Given the description of an element on the screen output the (x, y) to click on. 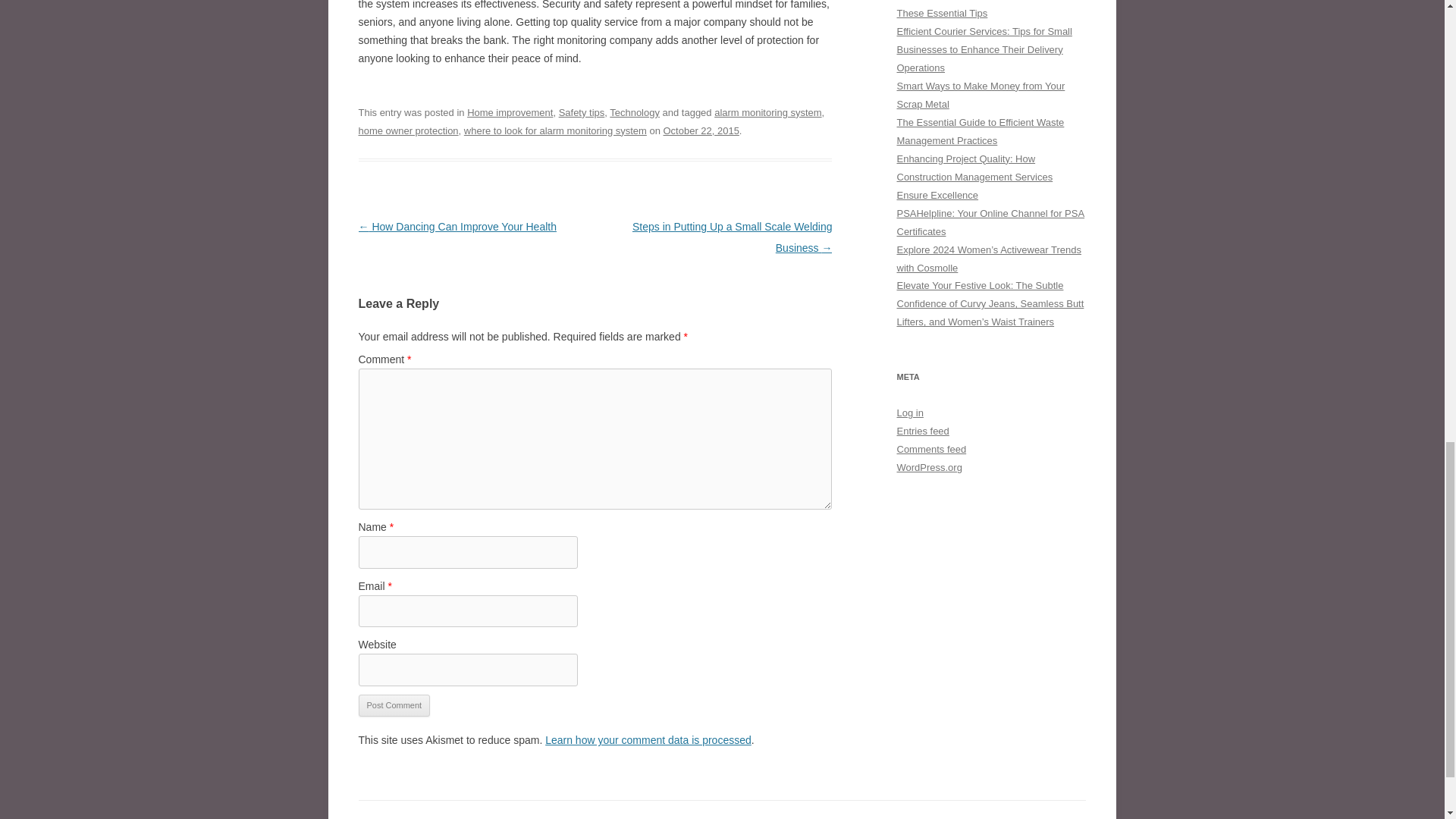
where to look for alarm monitoring system (555, 130)
Post Comment (393, 705)
PSAHelpline: Your Online Channel for PSA Certificates (990, 222)
1:26 am (701, 130)
Home improvement (510, 112)
October 22, 2015 (701, 130)
Safety tips (582, 112)
Learn how your comment data is processed (647, 739)
Post Comment (393, 705)
home owner protection (408, 130)
